Given the description of an element on the screen output the (x, y) to click on. 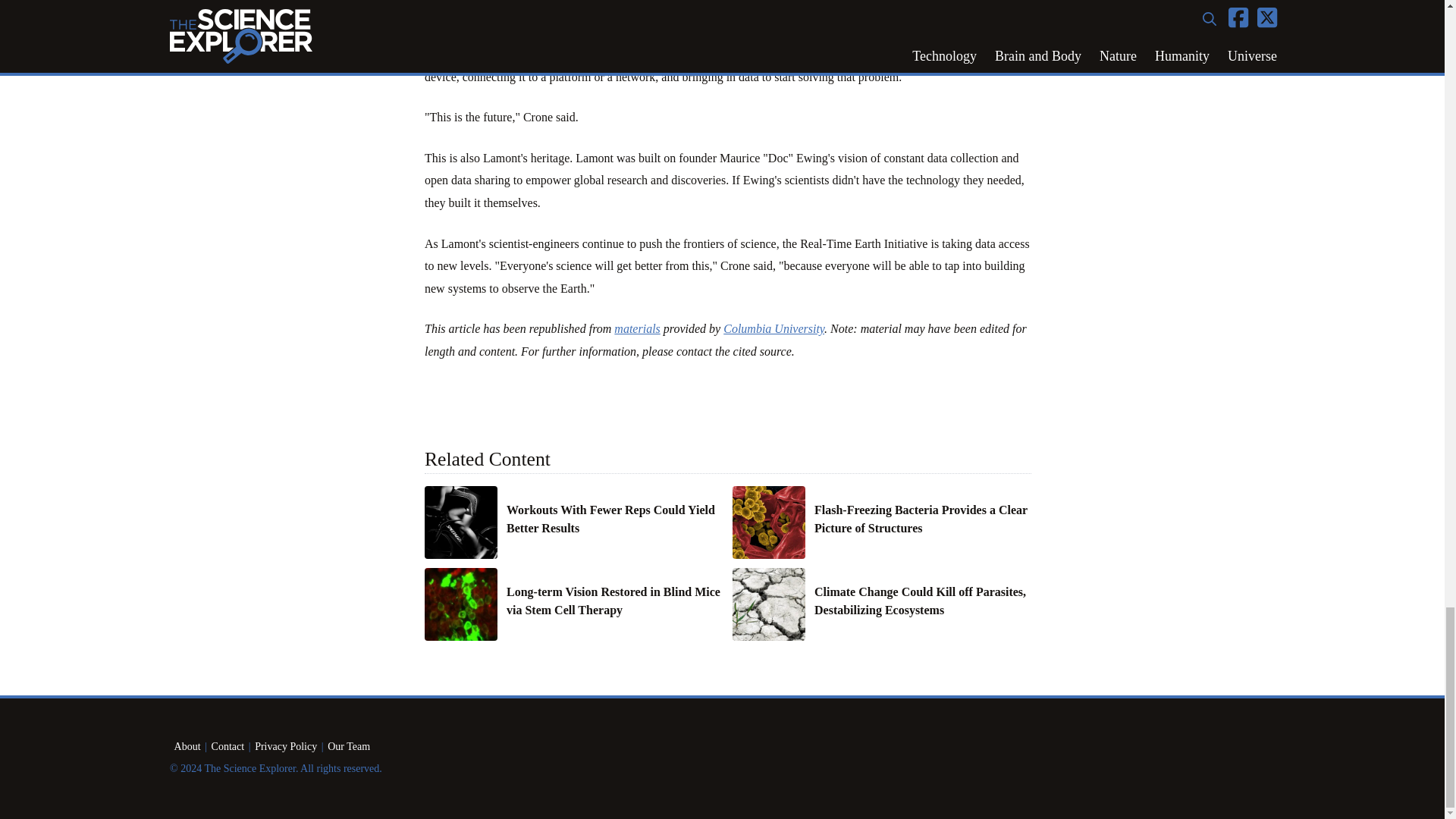
Workouts With Fewer Reps Could Yield Better Results (614, 519)
materials (636, 328)
Columbia University (773, 328)
